Given the description of an element on the screen output the (x, y) to click on. 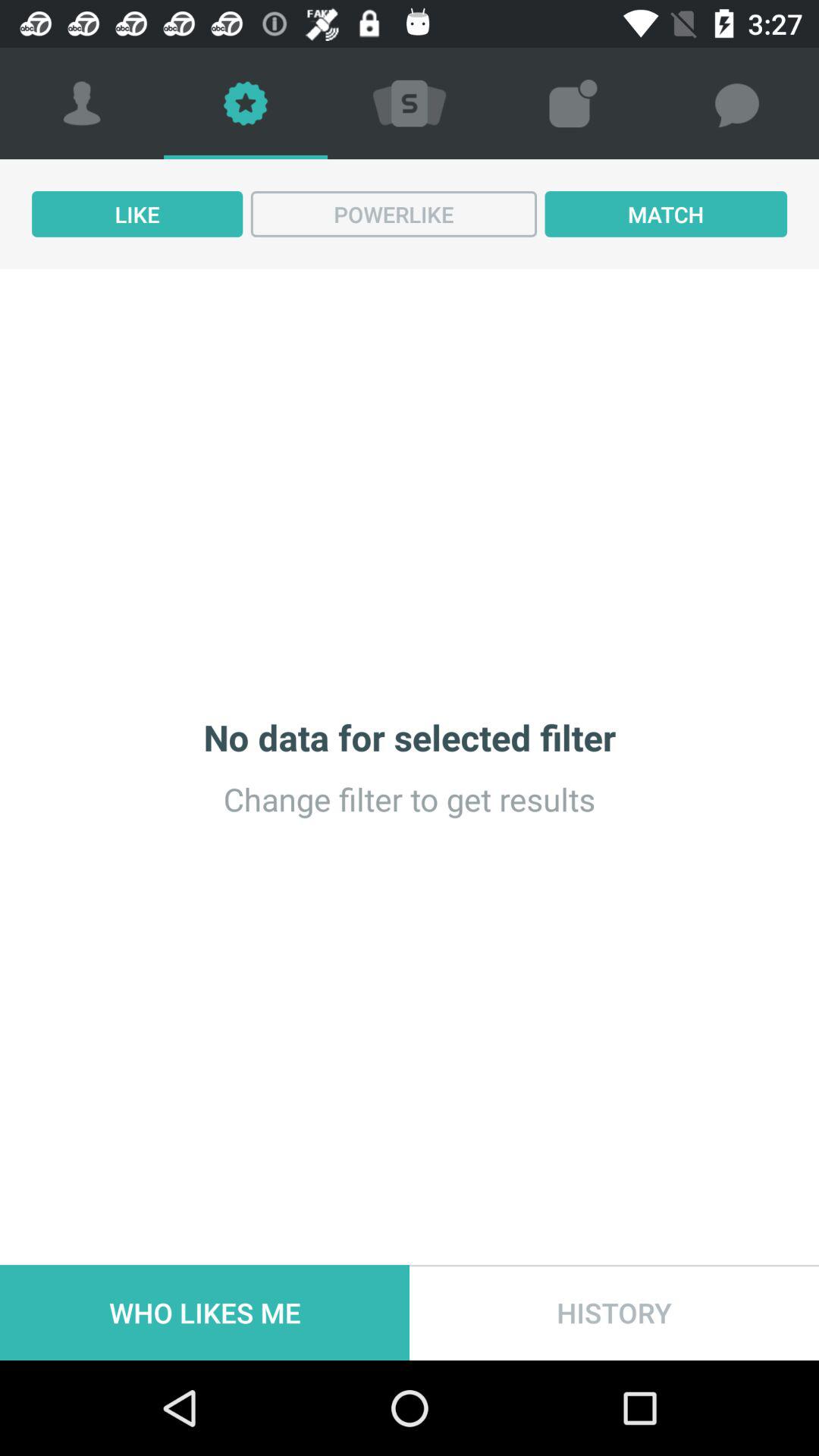
select history icon (614, 1312)
